Given the description of an element on the screen output the (x, y) to click on. 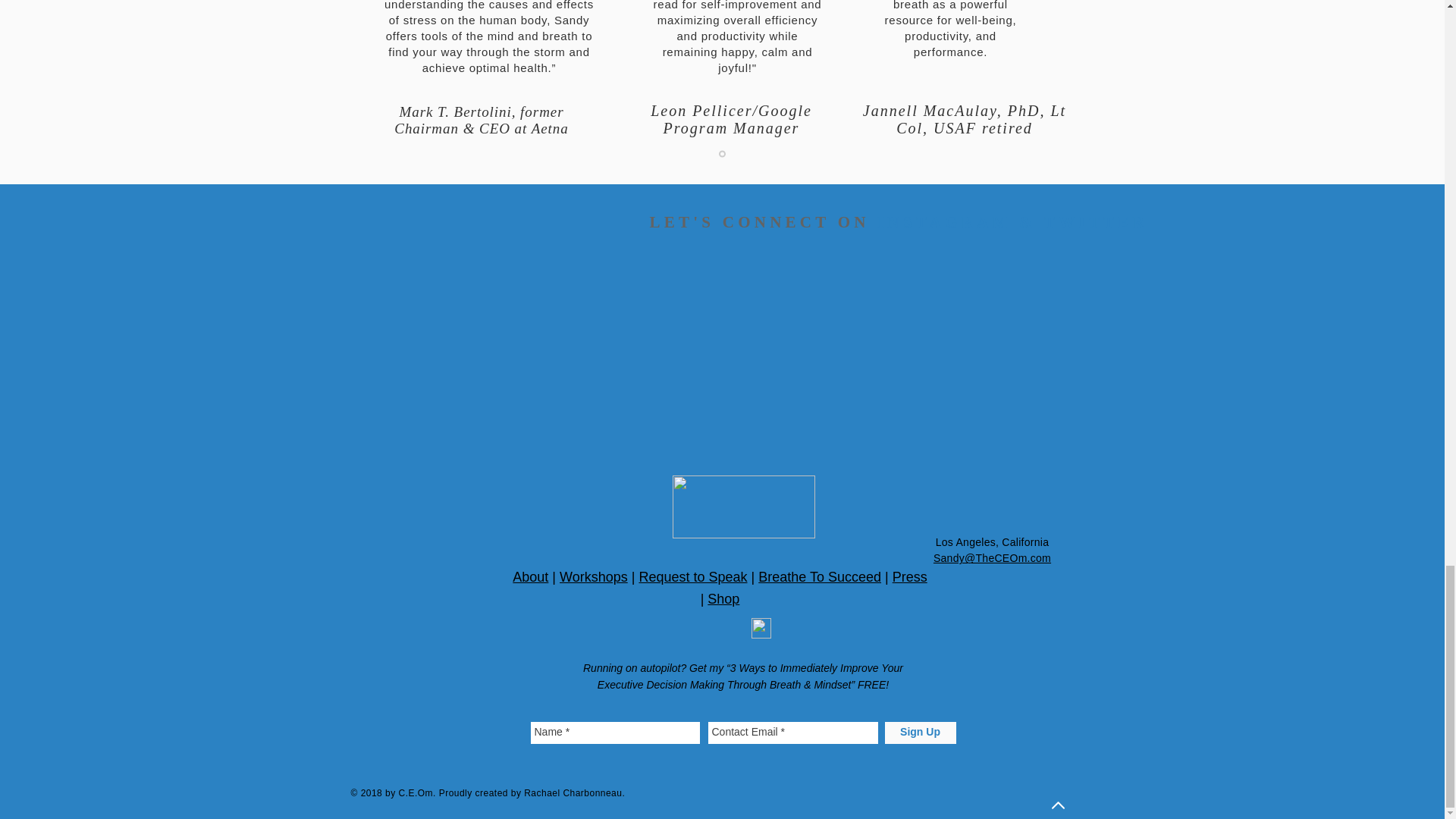
Shop (723, 598)
Request to Speak (692, 576)
Sign Up (919, 732)
About (530, 576)
Press (909, 576)
Workshops (593, 576)
Breathe To Succeed (819, 576)
